Given the description of an element on the screen output the (x, y) to click on. 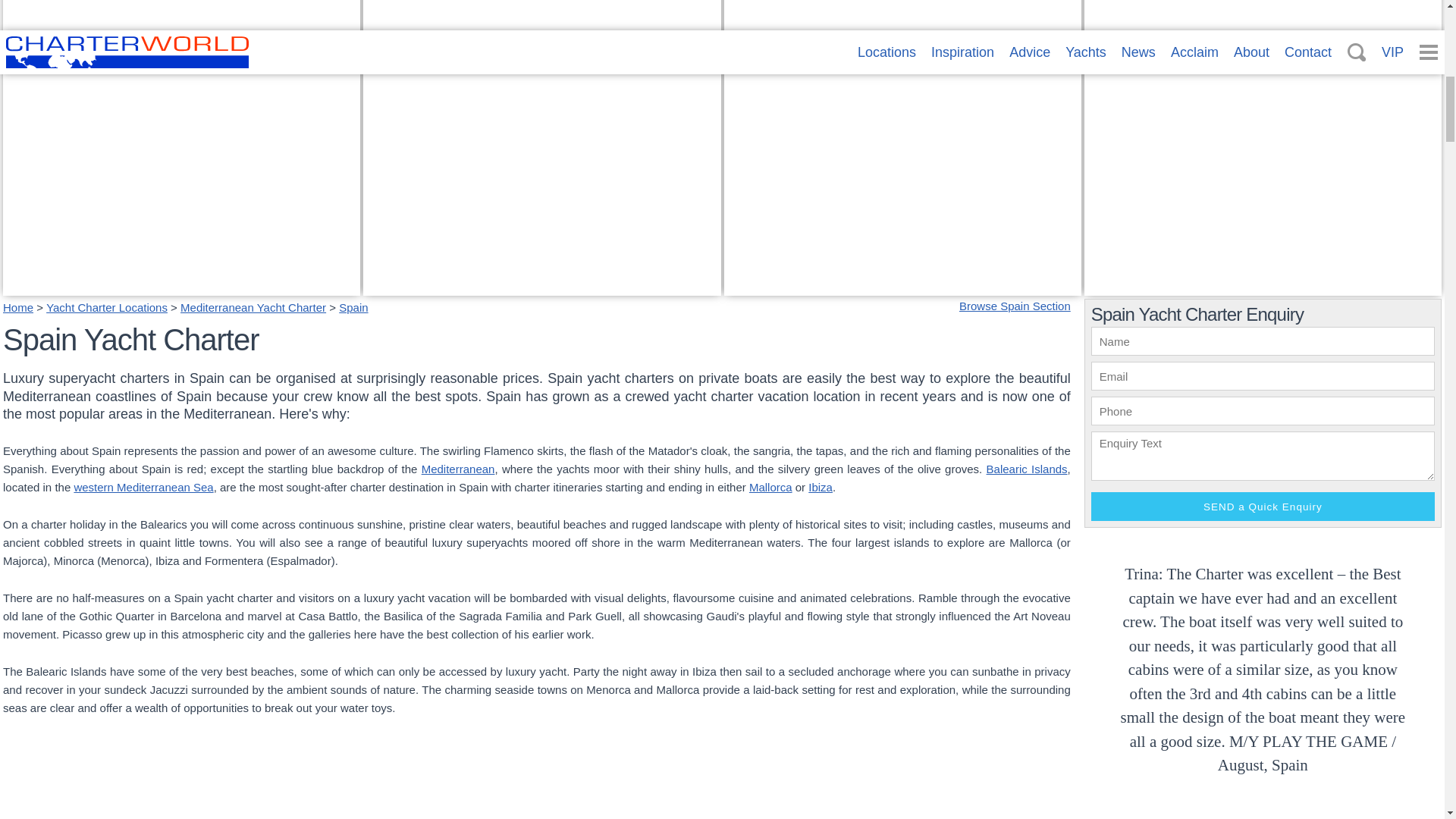
Be at the heart of the action by ... (1262, 286)
Be at the heart of the action by ... (1184, 268)
RAPTURE (760, 268)
SEND a Quick Enquiry (1262, 506)
Spain (180, 286)
Home (353, 307)
Barcelona, spain (17, 307)
Yacht Charter Locations (180, 286)
Ibiza (106, 307)
